Given the description of an element on the screen output the (x, y) to click on. 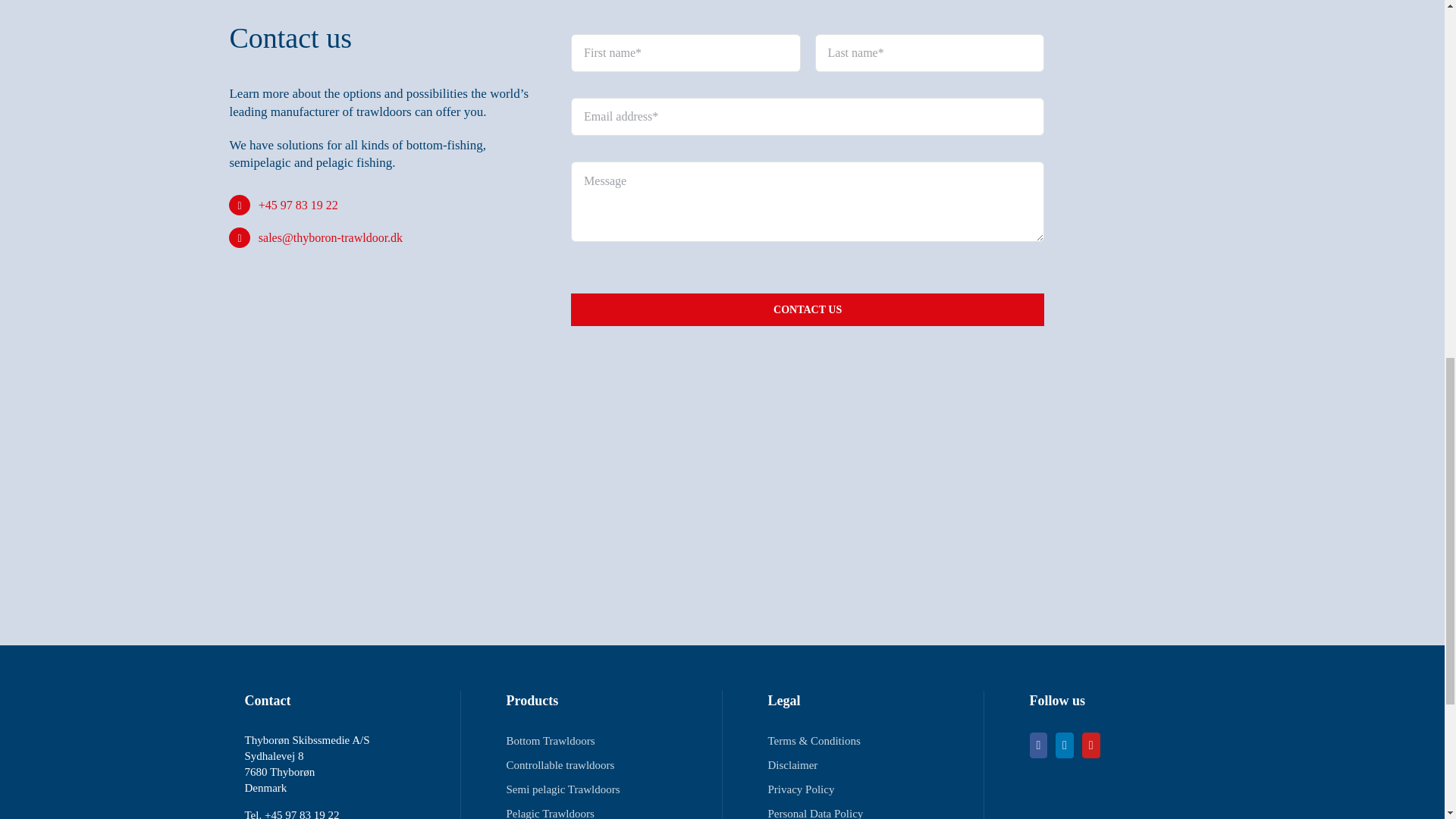
CONTACT US (806, 309)
